Given the description of an element on the screen output the (x, y) to click on. 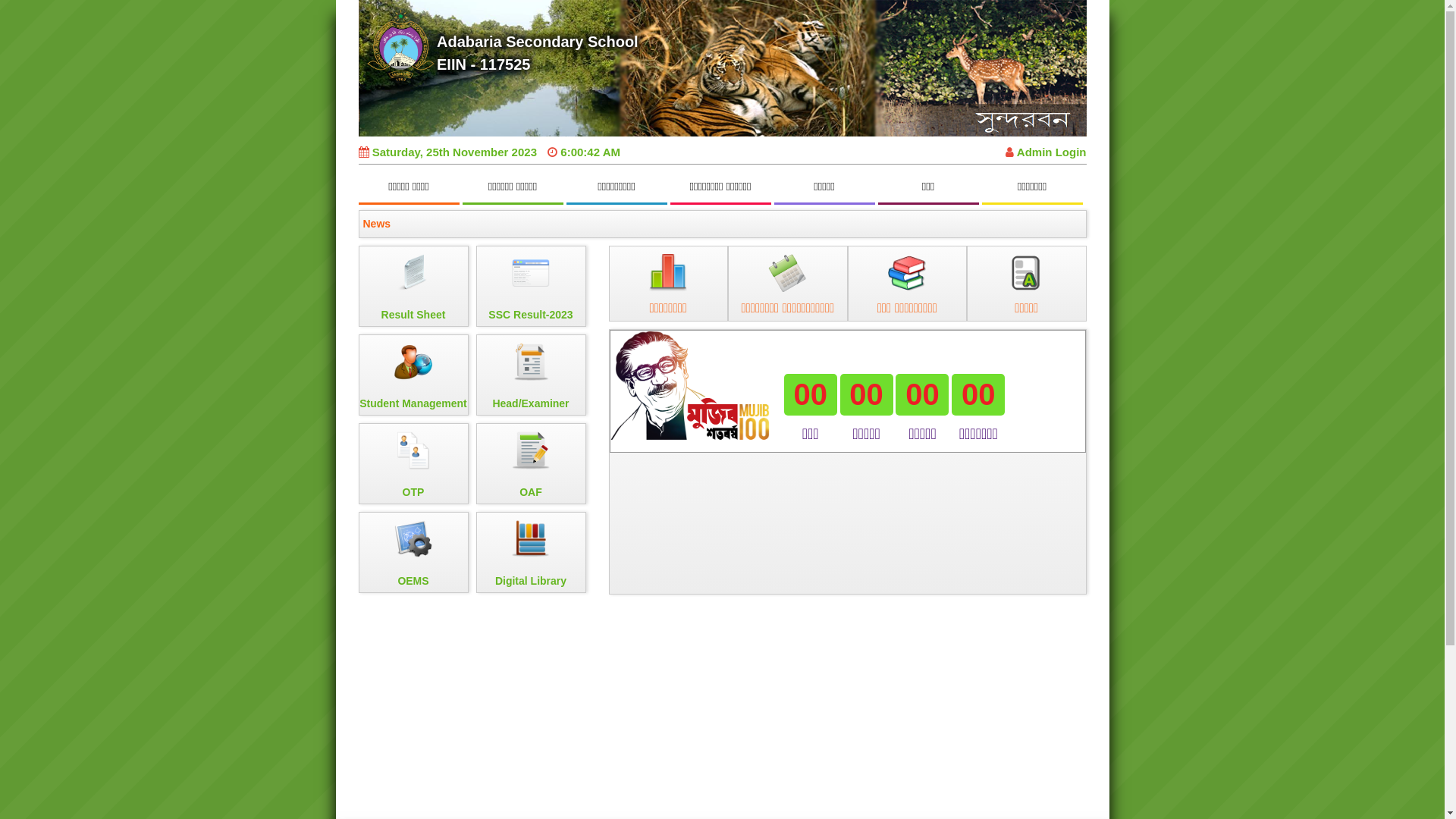
Head/Examiner Element type: text (531, 374)
OAF Element type: text (531, 463)
Admin Login Element type: text (1045, 151)
Result Sheet Element type: text (412, 285)
Digital Library Element type: text (531, 552)
OTP Element type: text (412, 463)
Student Management Element type: text (412, 374)
OEMS Element type: text (412, 552)
SSC Result-2023 Element type: text (531, 285)
